Given the description of an element on the screen output the (x, y) to click on. 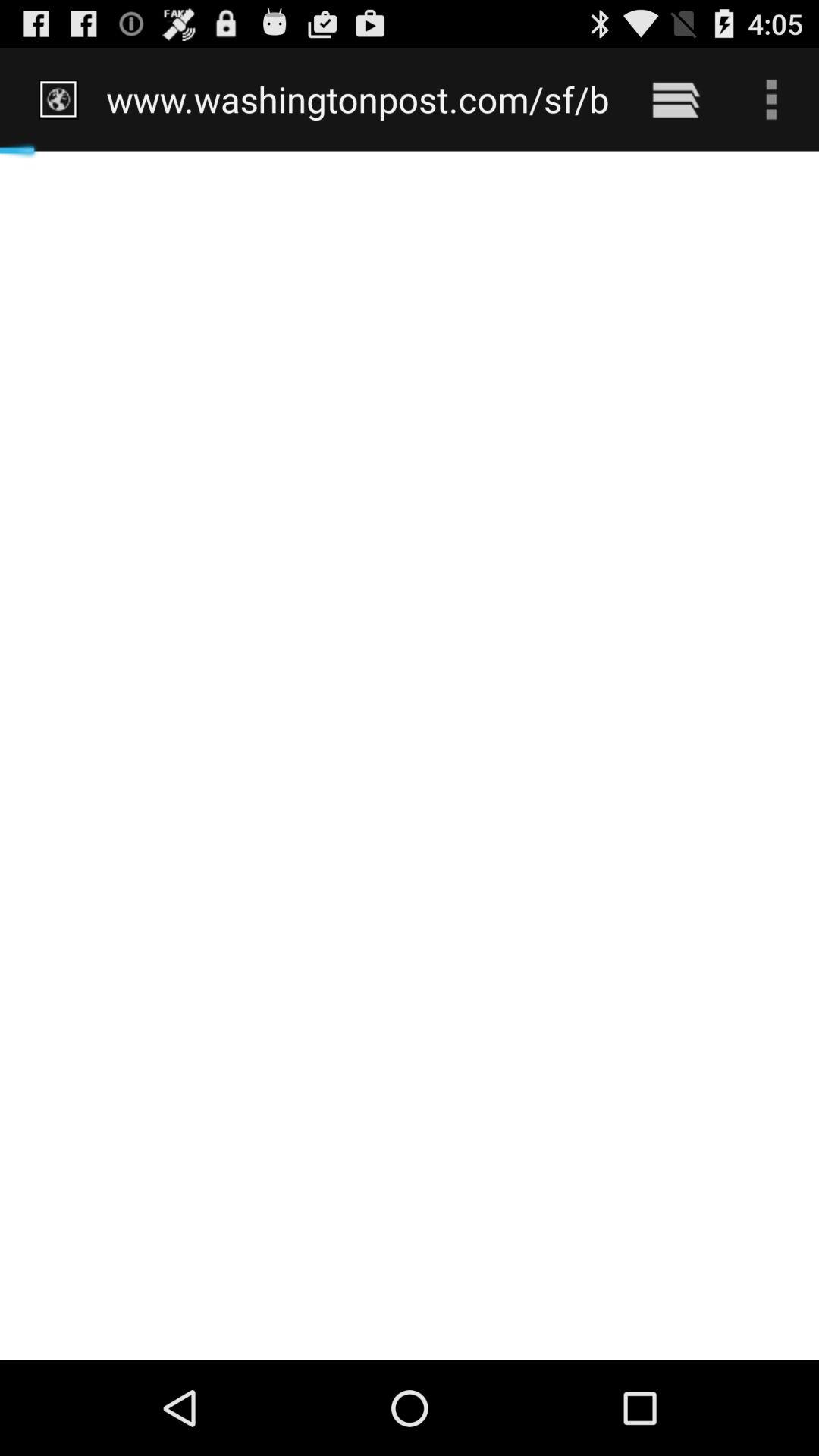
turn off the icon to the right of www washingtonpost com (675, 99)
